Given the description of an element on the screen output the (x, y) to click on. 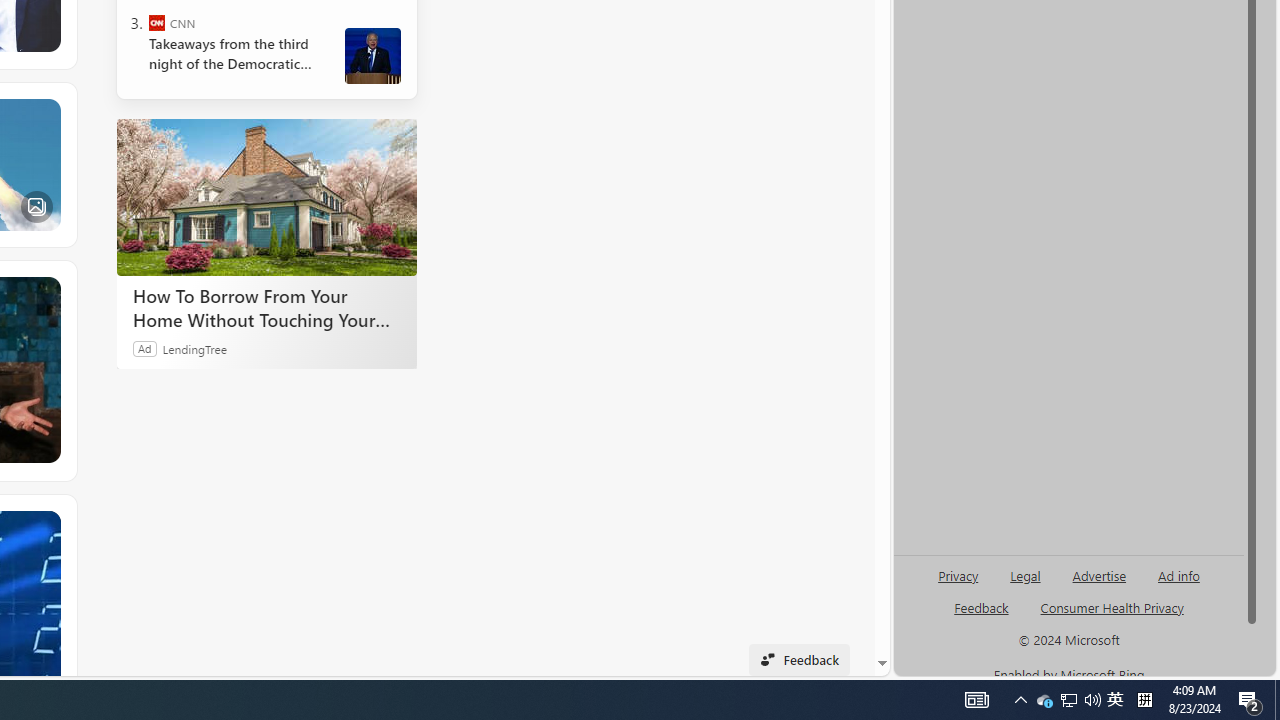
AutomationID: genId96 (981, 615)
LendingTree (194, 348)
AutomationID: sb_feedback (980, 607)
CNN (156, 22)
